Given the description of an element on the screen output the (x, y) to click on. 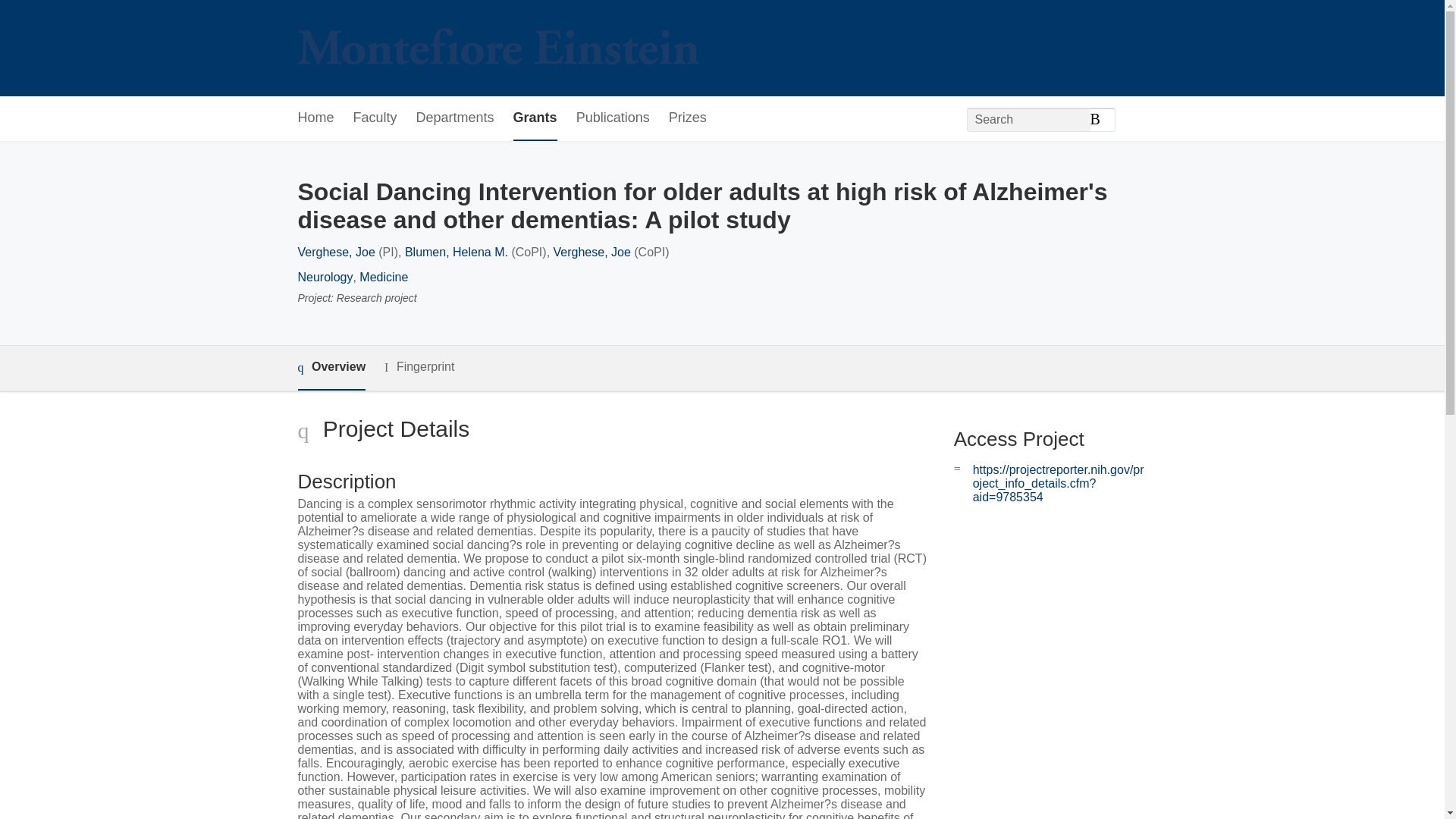
Blumen, Helena M. (456, 251)
Verghese, Joe (591, 251)
Neurology (324, 277)
Medicine (383, 277)
Verghese, Joe (335, 251)
Grants (535, 118)
Faculty (375, 118)
Publications (612, 118)
Fingerprint (419, 367)
Departments (455, 118)
